Given the description of an element on the screen output the (x, y) to click on. 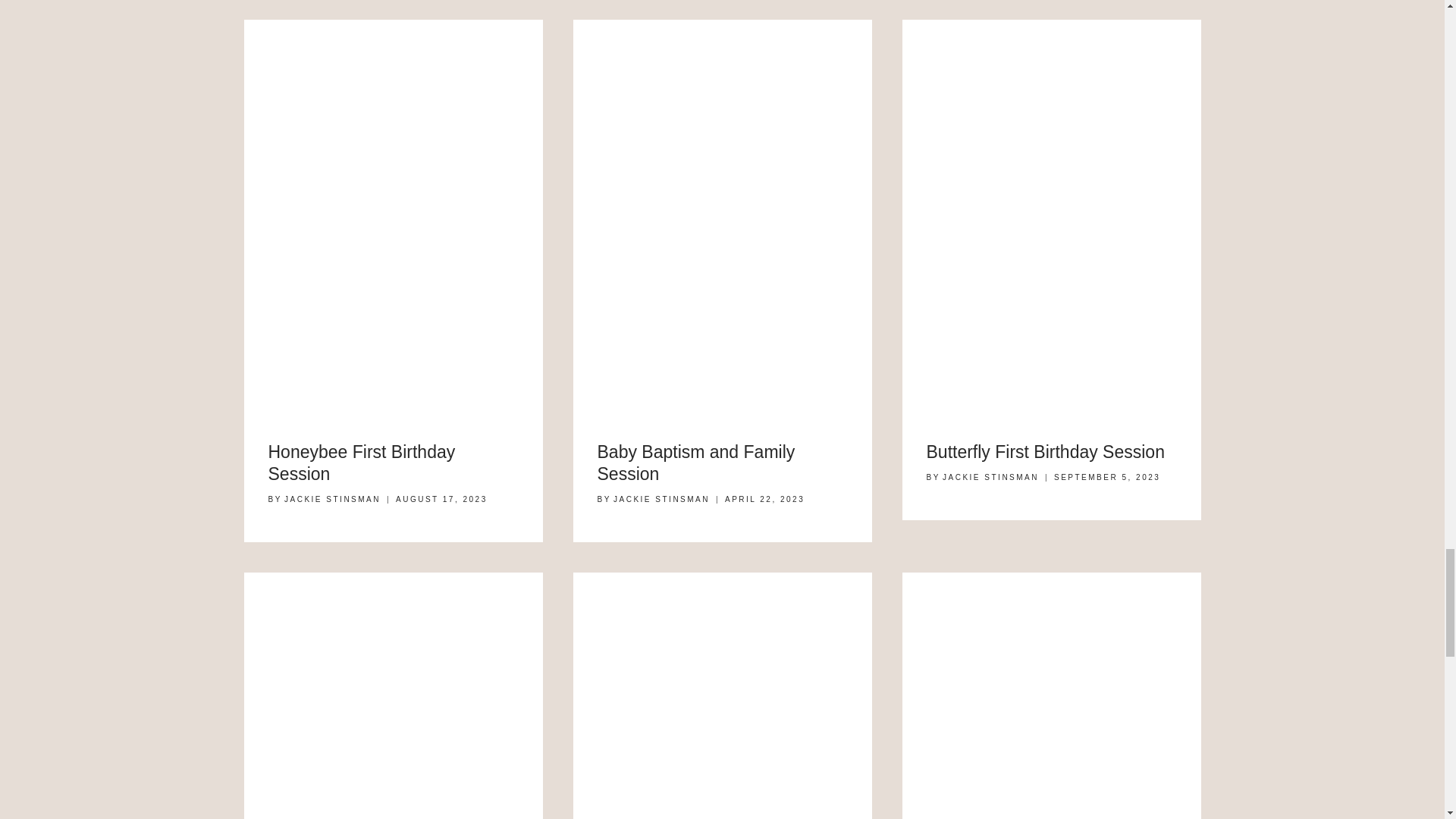
Honeybee First Birthday Session (361, 463)
JACKIE STINSMAN (331, 499)
Baby Baptism and Family Session (695, 463)
Butterfly First Birthday Session (1045, 451)
JACKIE STINSMAN (661, 499)
JACKIE STINSMAN (990, 477)
